Given the description of an element on the screen output the (x, y) to click on. 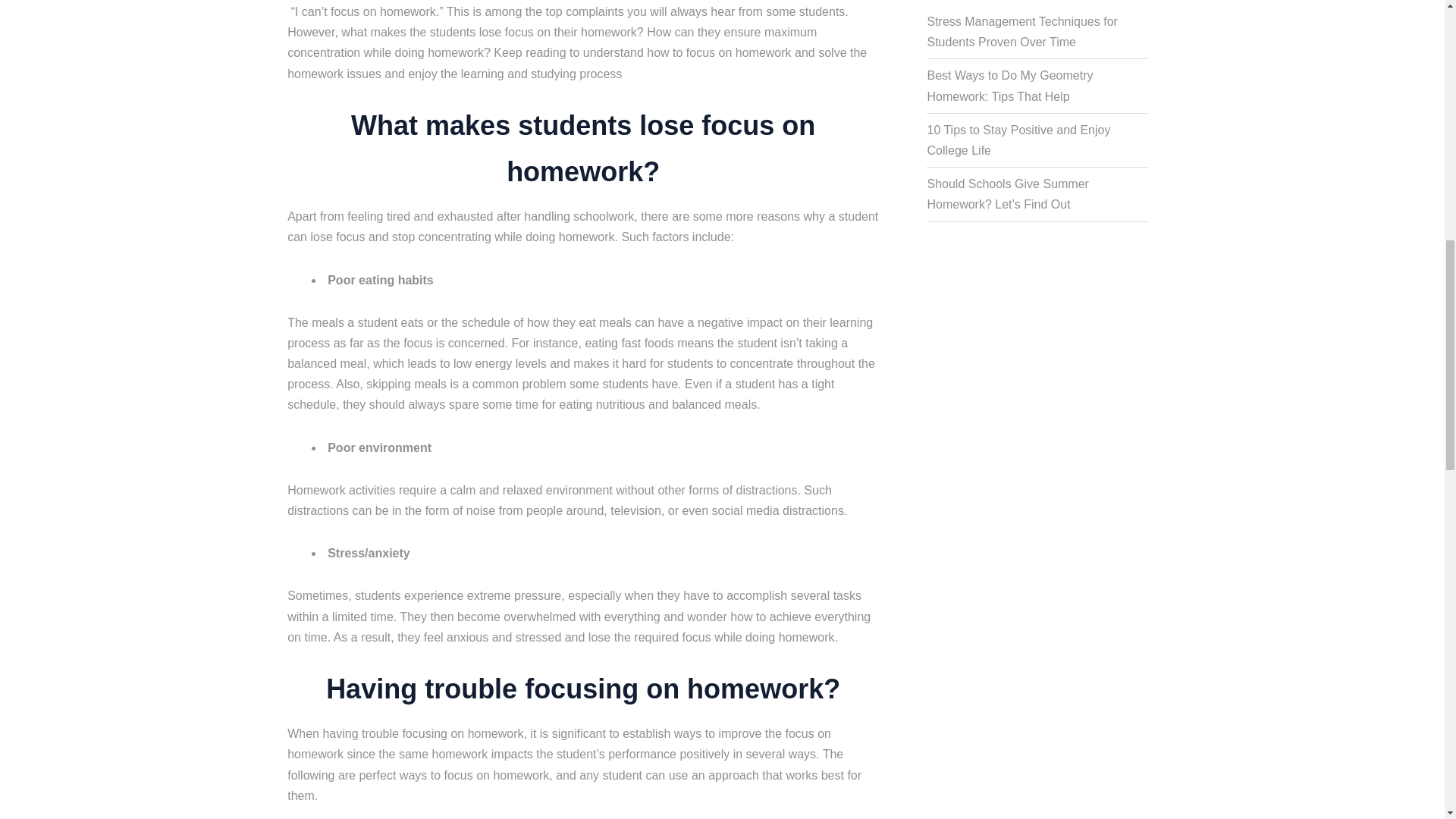
Best Ways to Do My Geometry Homework: Tips That Help (1009, 85)
Stress Management Techniques for Students Proven Over Time (1021, 31)
10 Tips to Stay Positive and Enjoy College Life (1017, 140)
